Given the description of an element on the screen output the (x, y) to click on. 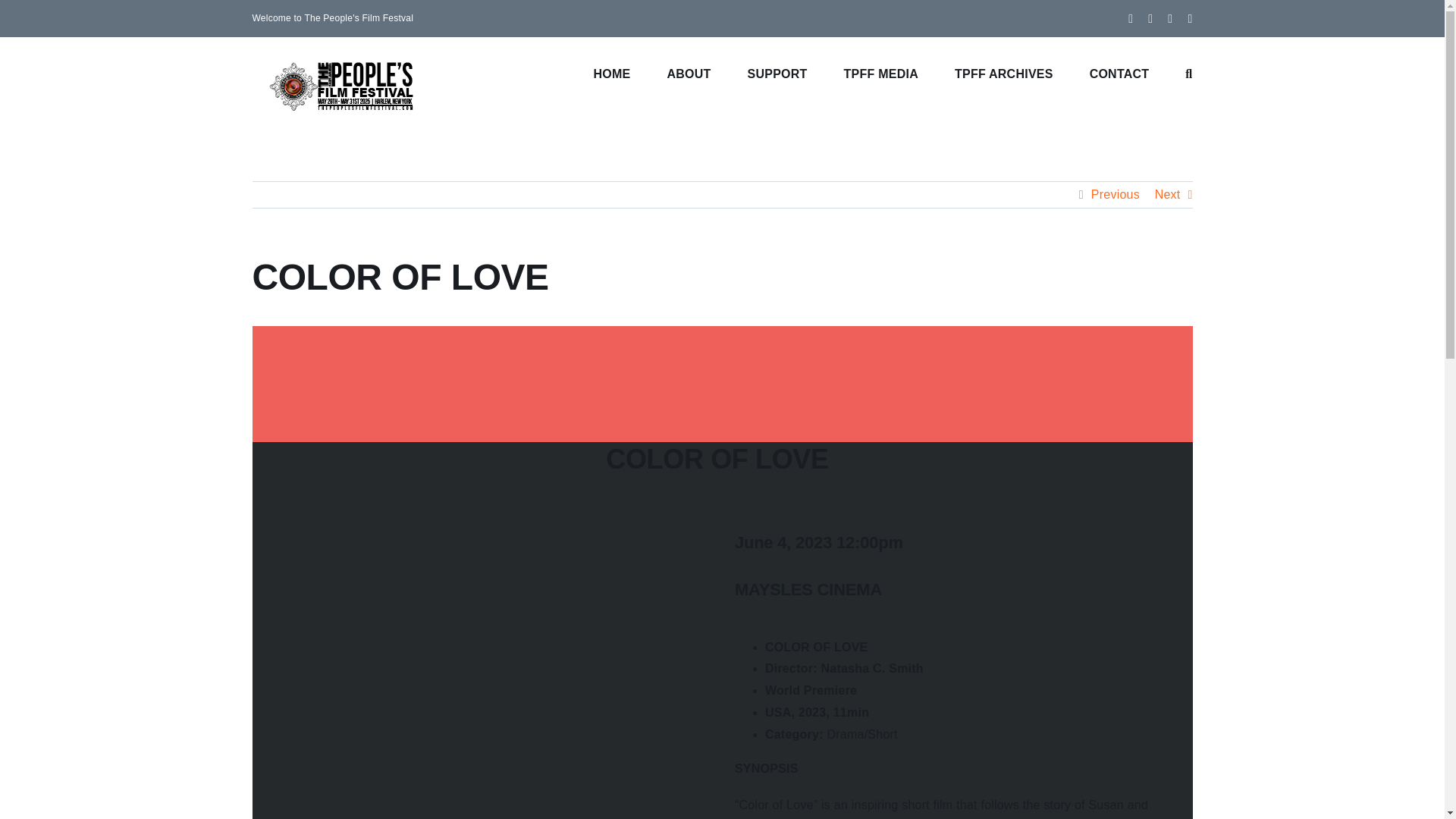
TPFF ARCHIVES (1003, 72)
TPFF MEDIA (881, 72)
511b74264f-poster (491, 535)
TPFF-2023-HEADER (721, 380)
